Given the description of an element on the screen output the (x, y) to click on. 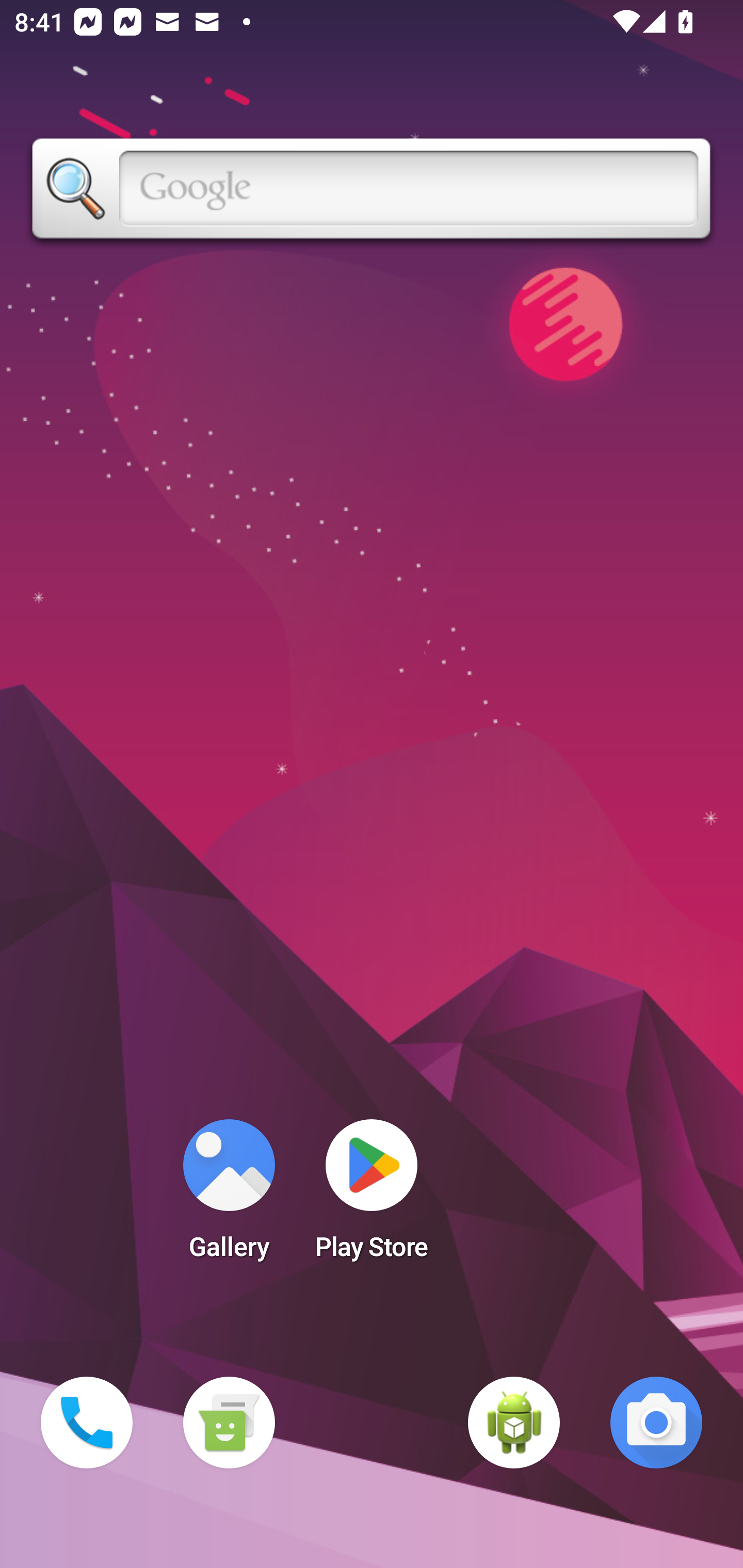
Gallery (228, 1195)
Play Store (371, 1195)
Phone (86, 1422)
Messaging (228, 1422)
WebView Browser Tester (513, 1422)
Camera (656, 1422)
